Given the description of an element on the screen output the (x, y) to click on. 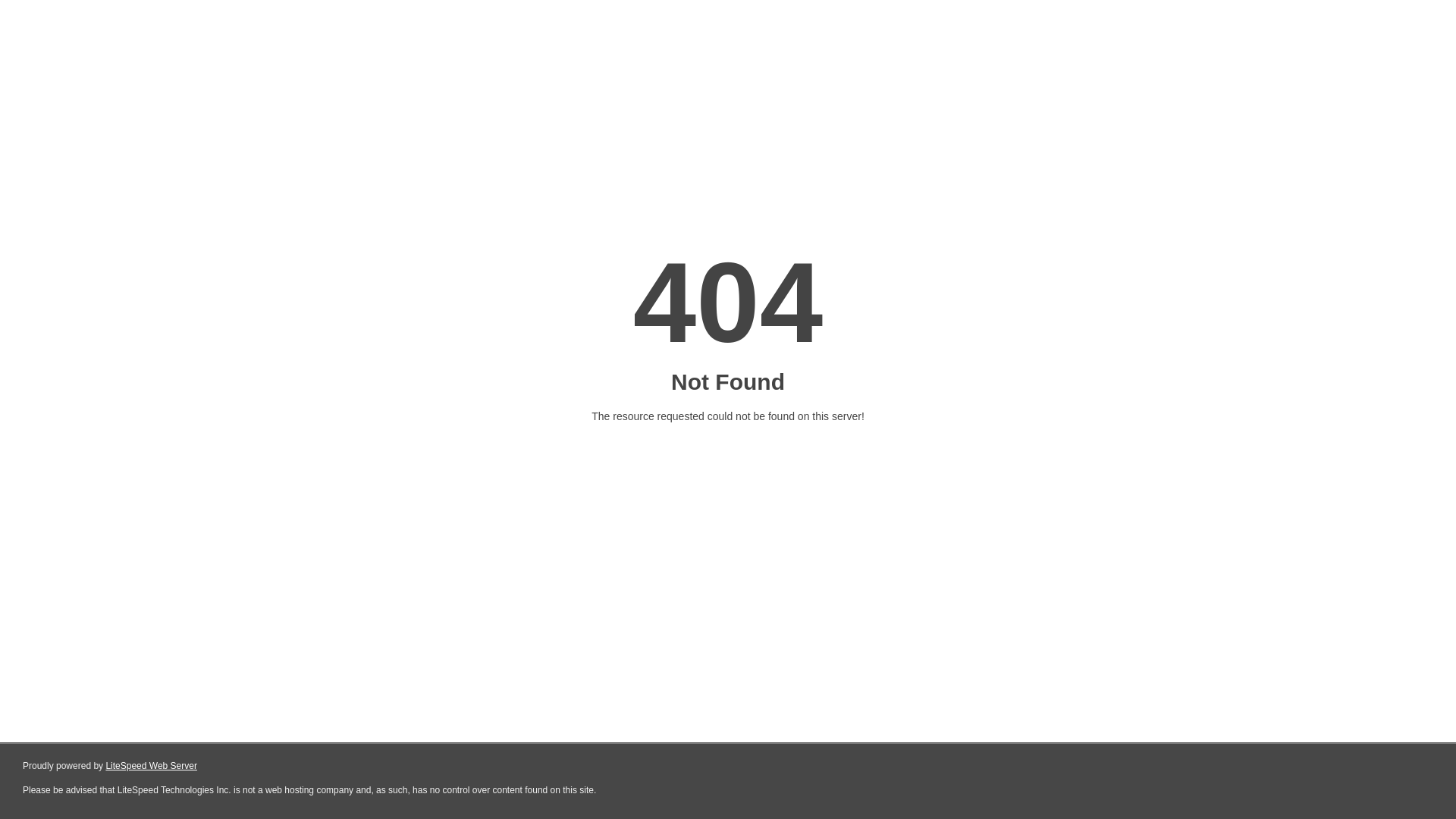
LiteSpeed Web Server Element type: text (151, 765)
